Given the description of an element on the screen output the (x, y) to click on. 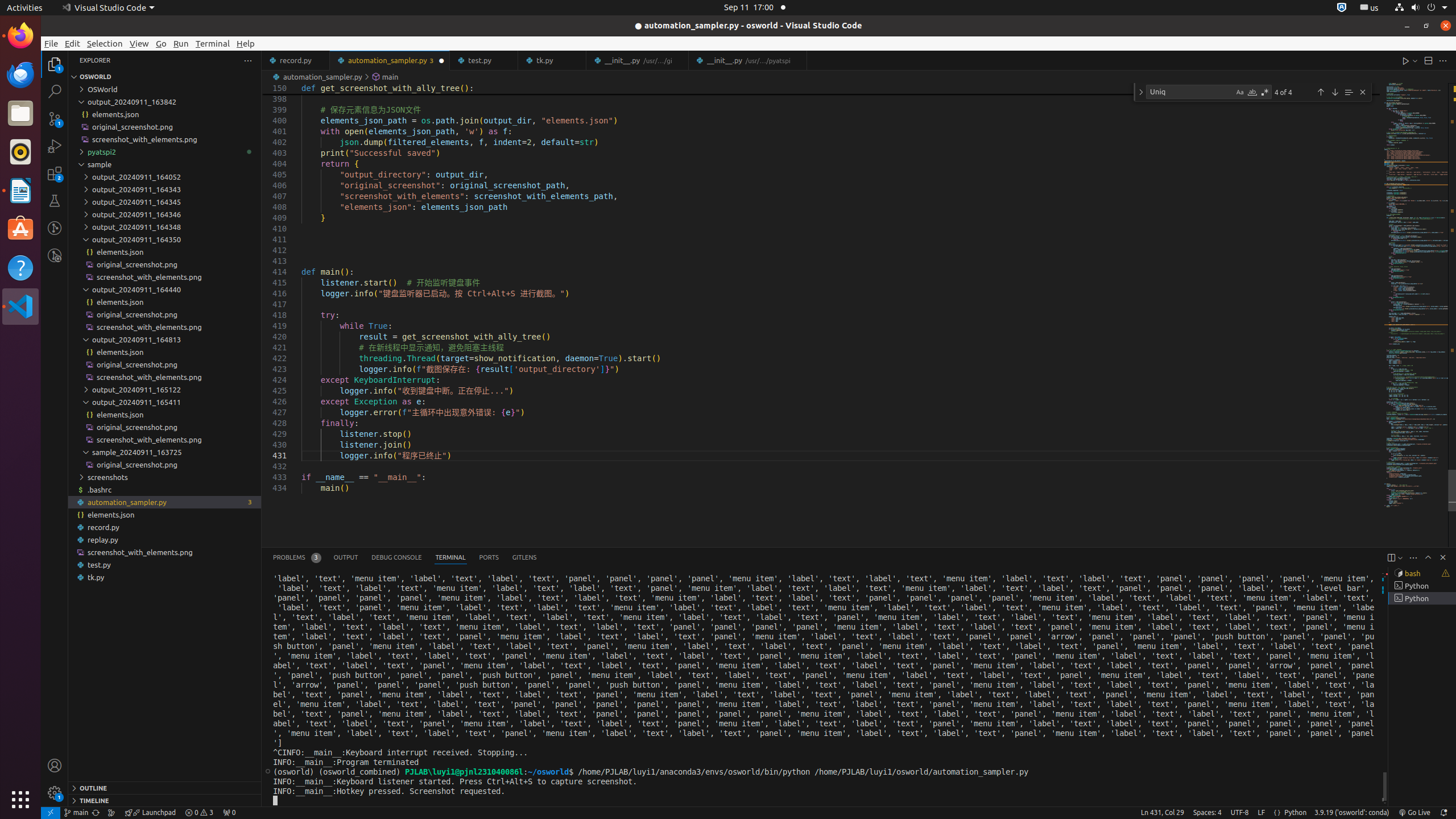
No Ports Forwarded Element type: push-button (228, 812)
remote Element type: push-button (50, 812)
Spaces: 4 Element type: push-button (1206, 812)
output_20240911_164348 Element type: tree-item (164, 226)
File Element type: push-button (50, 43)
